Given the description of an element on the screen output the (x, y) to click on. 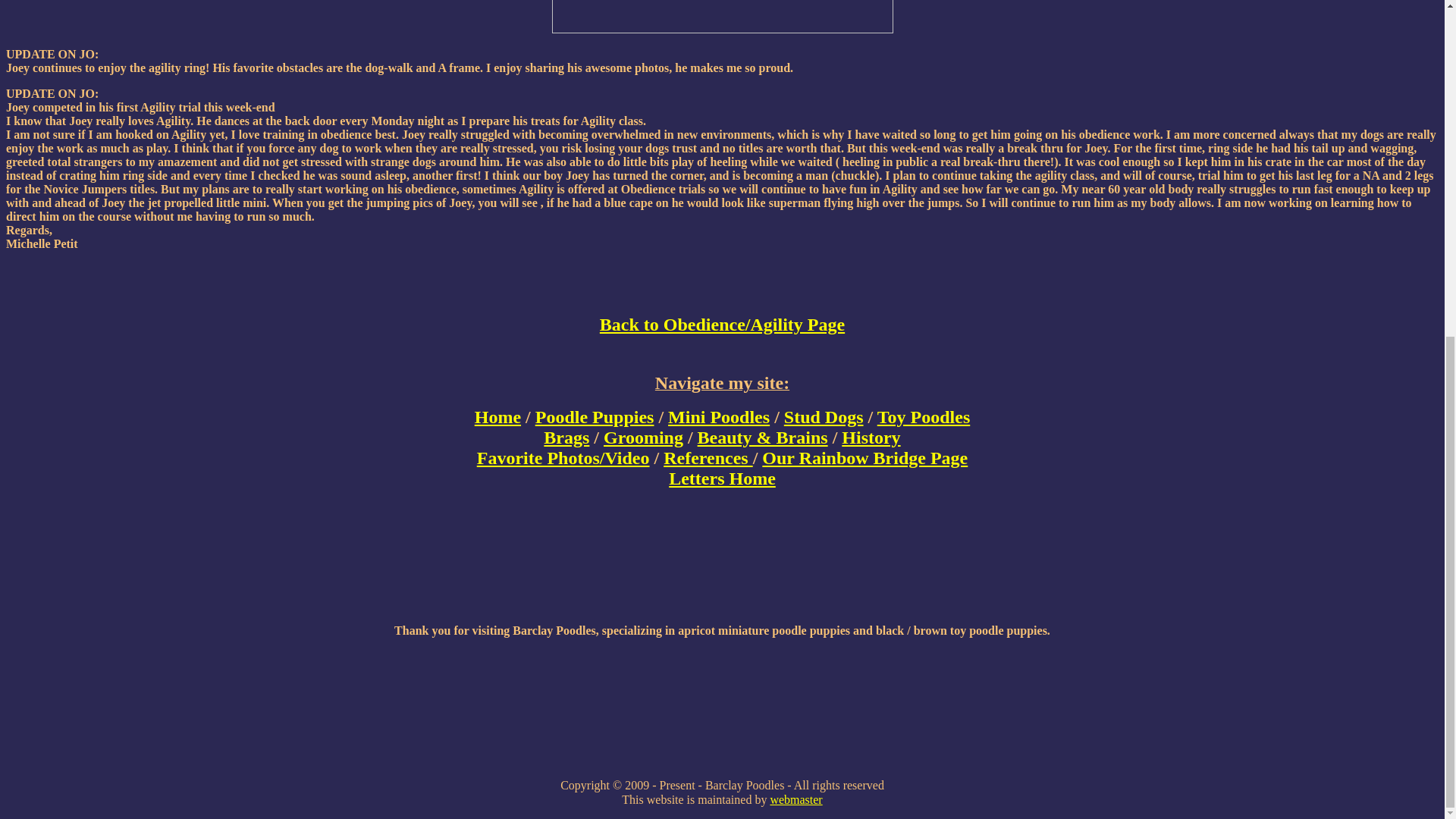
Our Rainbow Bridge Page (864, 457)
Toy Poodles (923, 416)
Home (497, 416)
References (707, 457)
Brags (566, 437)
Letters Home (722, 478)
Mini Poodles (719, 416)
History (870, 437)
Grooming (643, 437)
Poodle Puppies (594, 416)
